Given the description of an element on the screen output the (x, y) to click on. 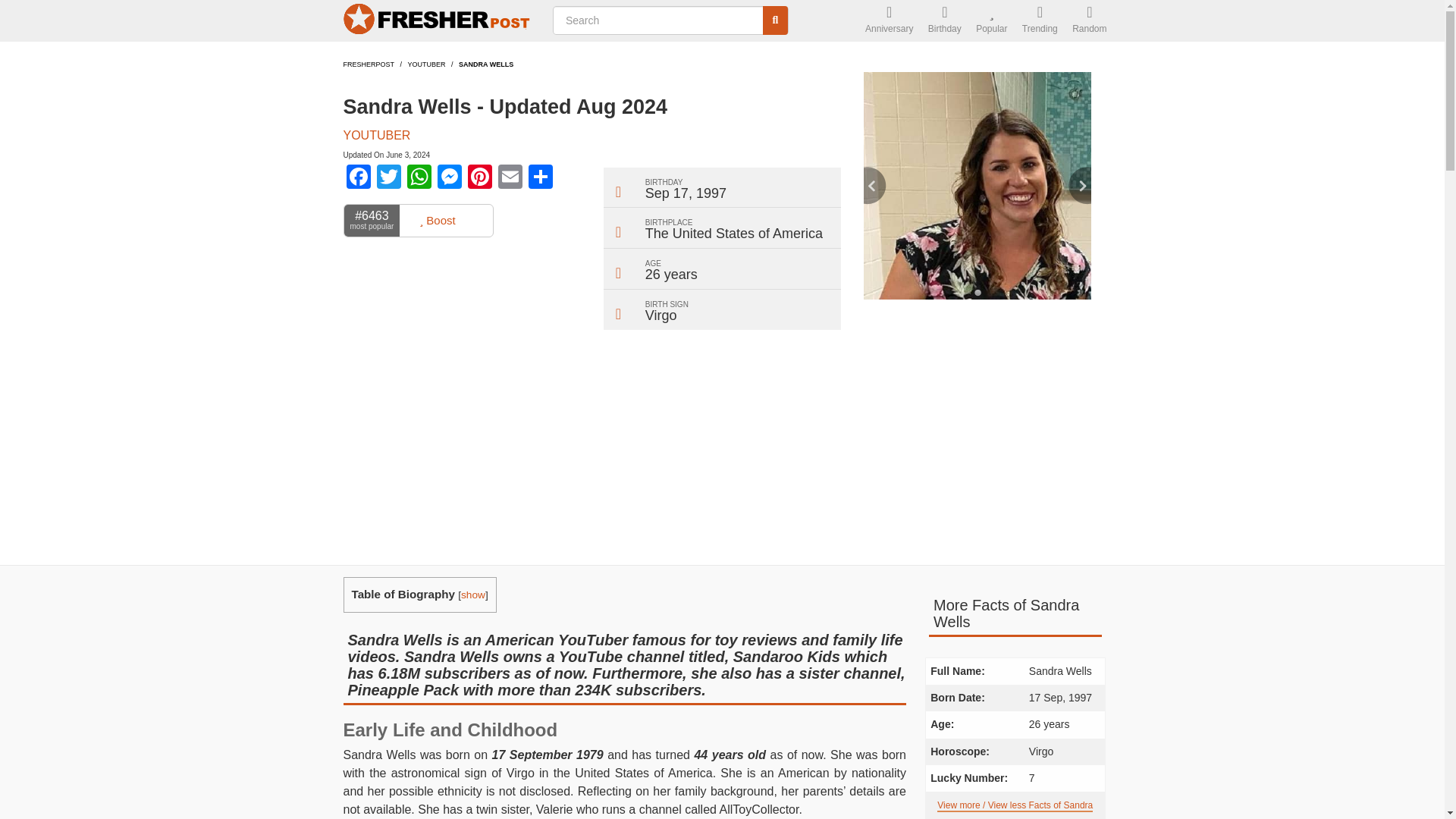
Fresherpost (368, 63)
Email (509, 178)
Fresher Post (438, 21)
WhatsApp (418, 178)
Facebook (357, 178)
Messenger (448, 178)
Boost (437, 220)
Virgo (661, 314)
random (1088, 21)
YouTuber (426, 63)
